Given the description of an element on the screen output the (x, y) to click on. 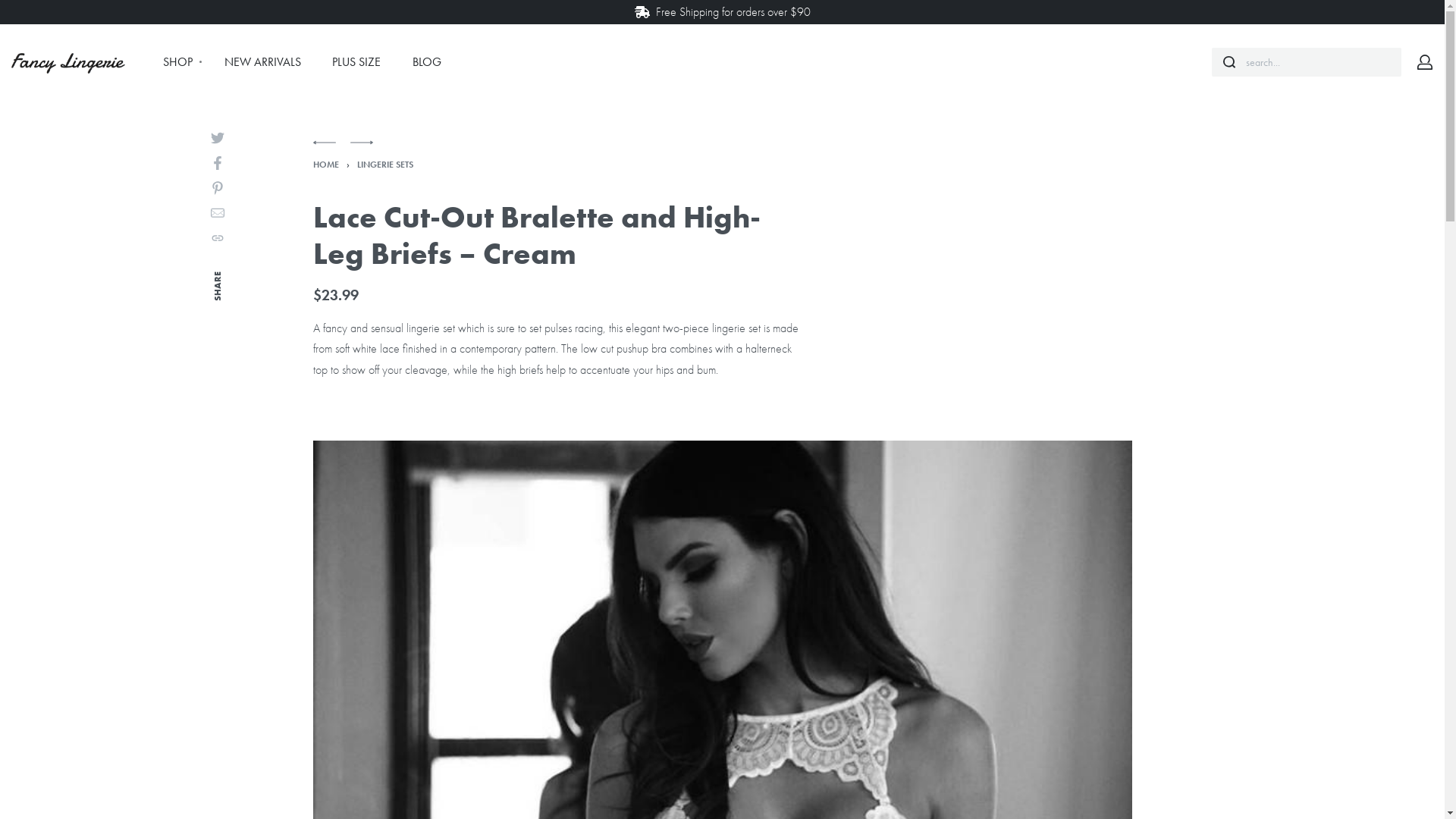
Erotic Lace Collar Push-up Bra Lingerie Set Element type: hover (361, 149)
BLOG Element type: text (426, 61)
NEW ARRIVALS Element type: text (262, 61)
LINGERIE SETS Element type: text (384, 164)
SHOP Element type: text (177, 61)
PLUS SIZE Element type: text (356, 61)
Red High-waisted Panties with Corset-style Lacing Element type: hover (323, 149)
HOME Element type: text (325, 164)
